Given the description of an element on the screen output the (x, y) to click on. 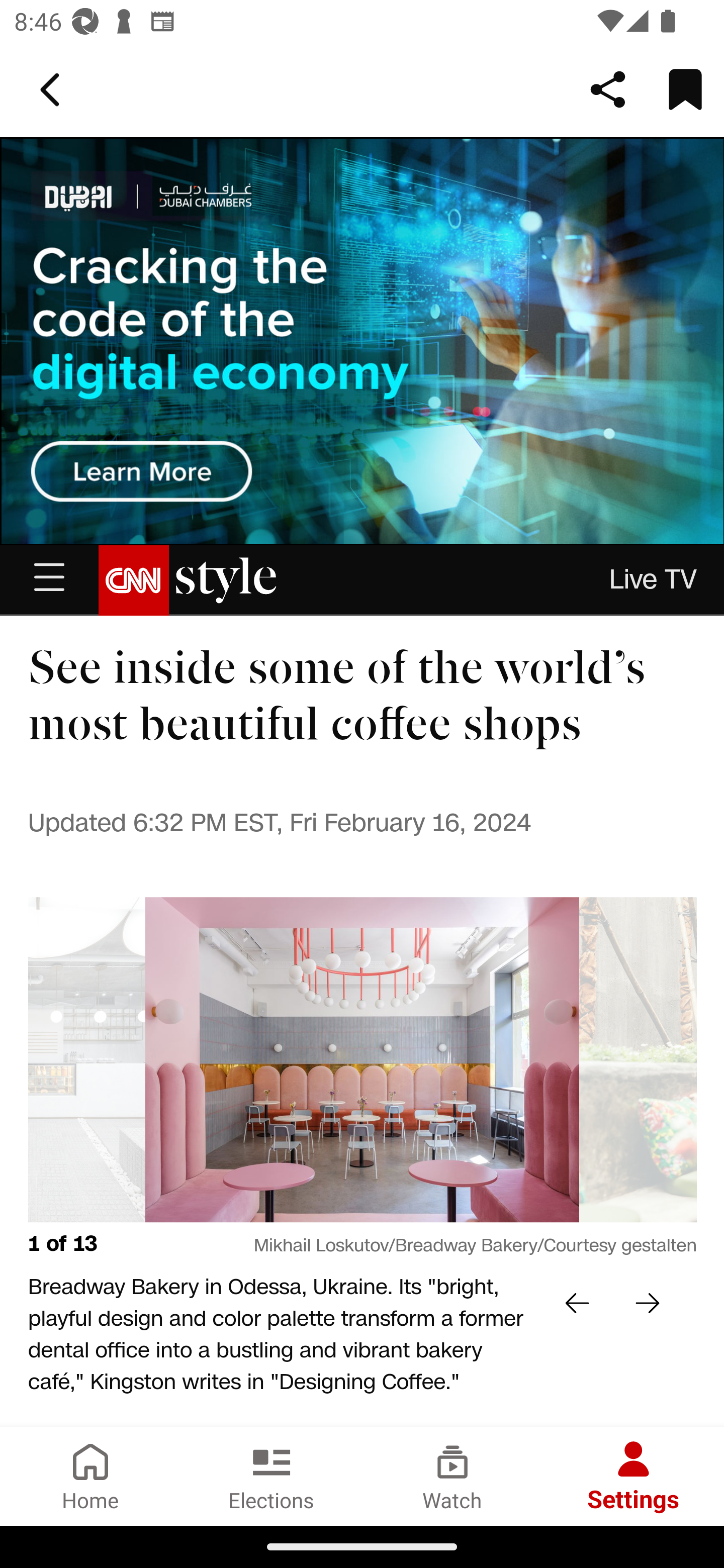
Back Button (52, 89)
Share (607, 89)
Bookmark Selected (685, 89)
Home (90, 1475)
Elections (271, 1475)
Watch (452, 1475)
